Given the description of an element on the screen output the (x, y) to click on. 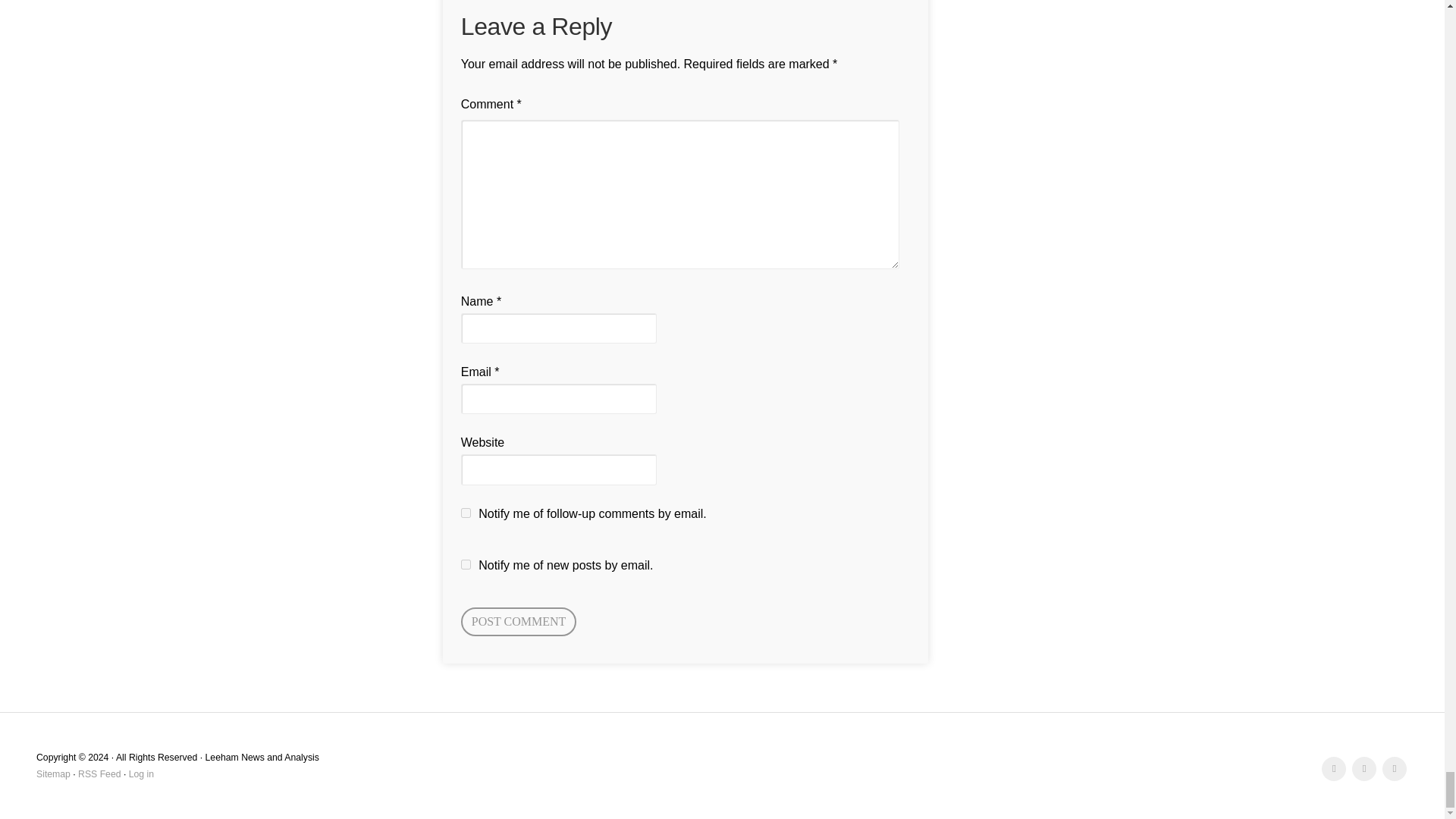
subscribe (465, 564)
Post Comment (518, 621)
subscribe (465, 512)
